Given the description of an element on the screen output the (x, y) to click on. 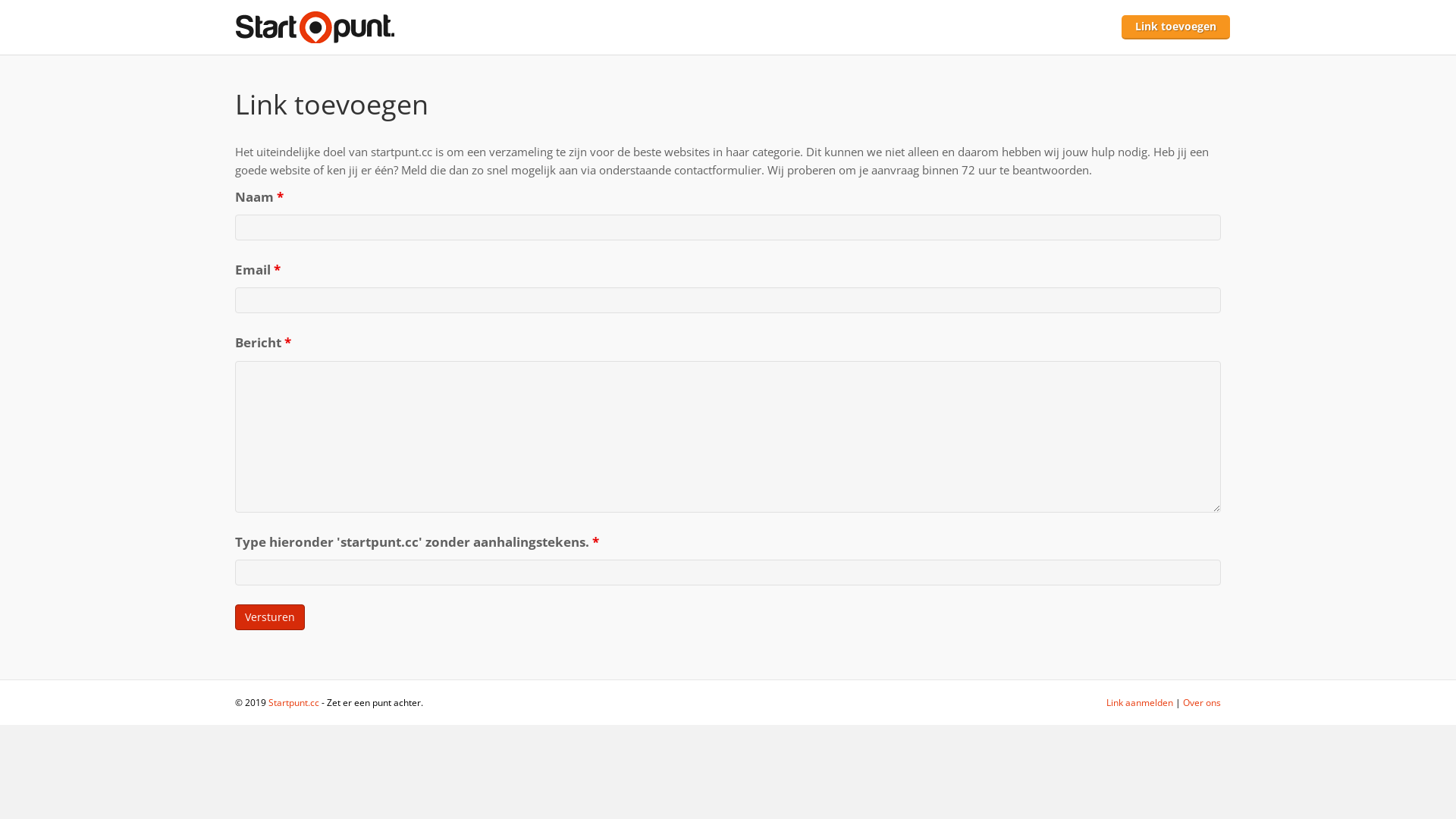
Link toevoegen Element type: text (1175, 27)
Link aanmelden Element type: text (1139, 702)
Over ons Element type: text (1201, 702)
Startpunt.cc Element type: text (293, 702)
